Given the description of an element on the screen output the (x, y) to click on. 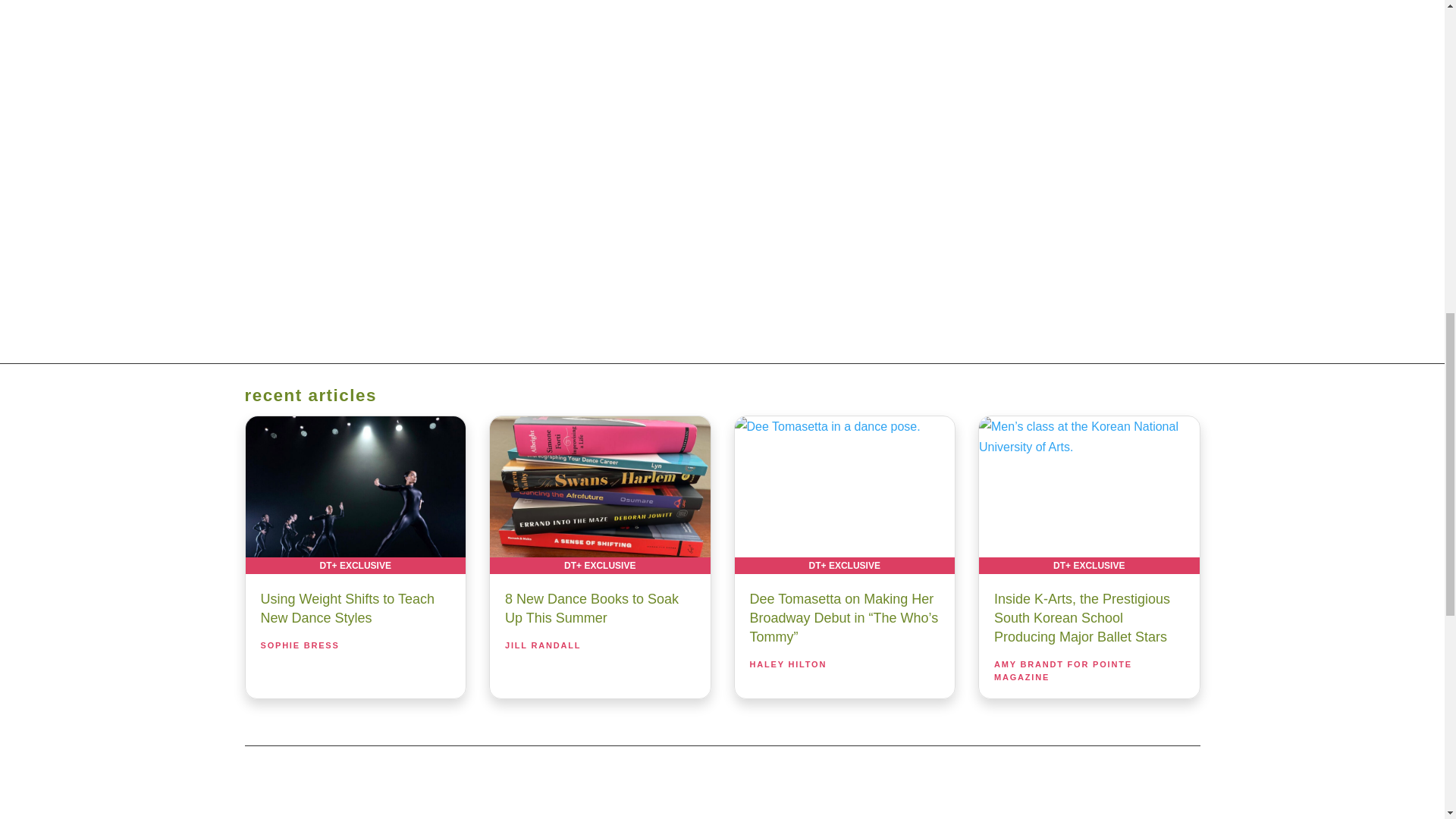
Using Weight Shifts to Teach New Dance Styles (355, 495)
8 New Dance Books to Soak Up This Summer (599, 495)
